Given the description of an element on the screen output the (x, y) to click on. 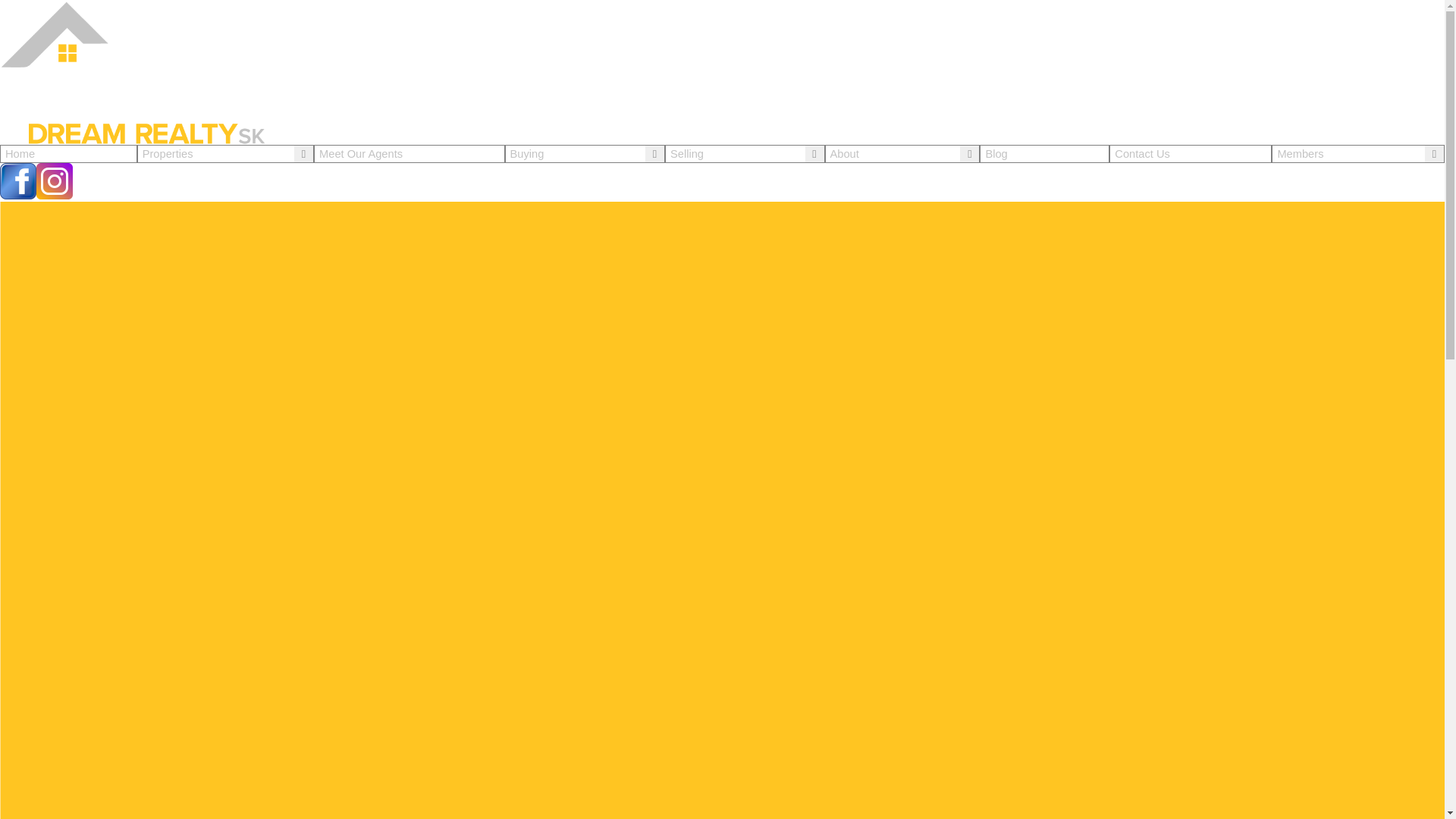
Buying (527, 153)
Meet Our Agents (408, 153)
Contact Us (1190, 153)
Blog (1044, 153)
Selling (686, 153)
Home (68, 153)
About (844, 153)
Members (1299, 153)
Properties (167, 153)
